Given the description of an element on the screen output the (x, y) to click on. 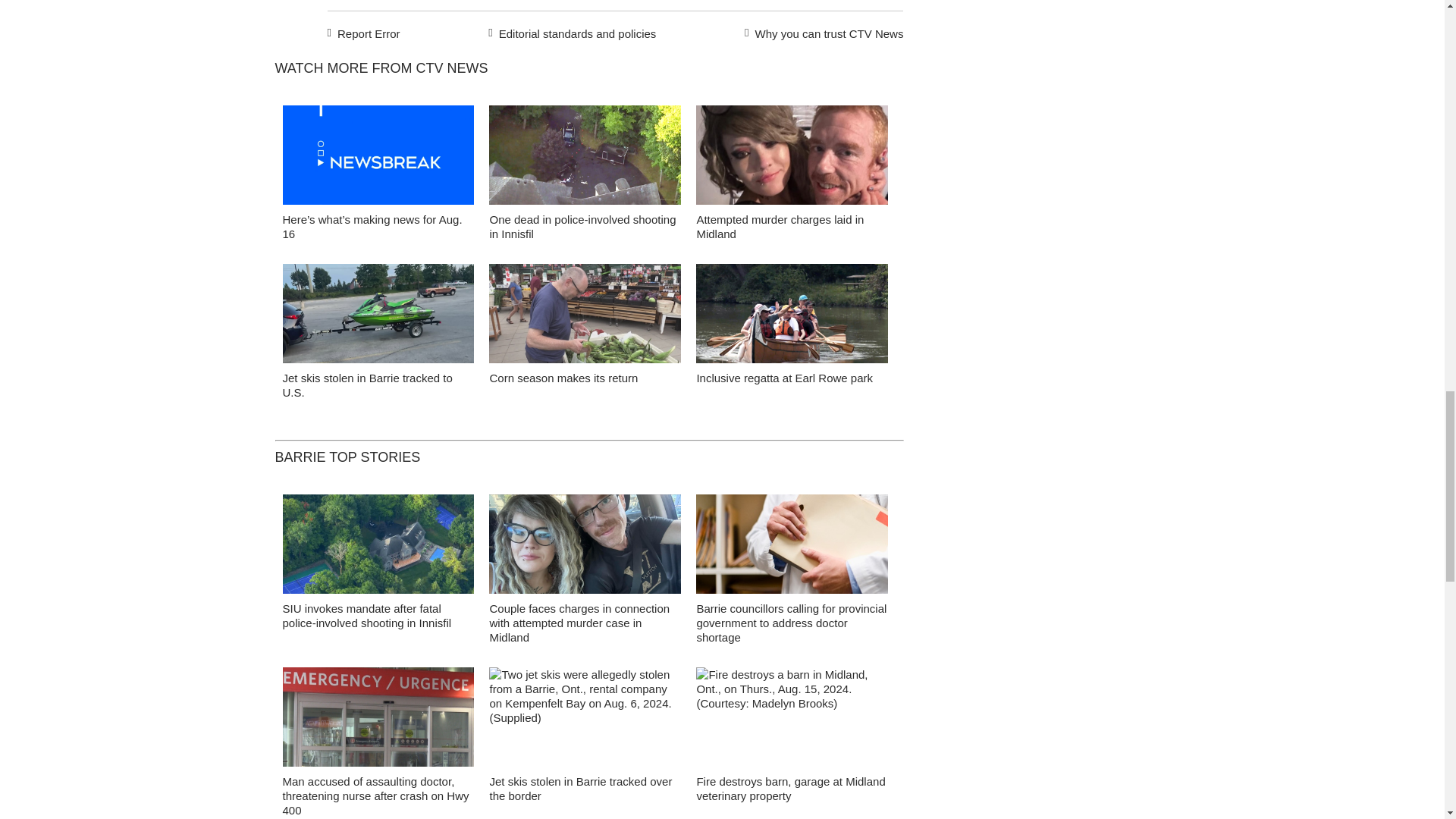
Innisfil shooting (378, 547)
Fatal police-involved shooting in Innisfil (585, 158)
Jet skis stolen in Barrie tracked to U.S. (366, 384)
false (378, 154)
Why you can trust CTV News (820, 31)
Barrie promo Newsbreak (378, 158)
Reddit (353, 0)
Doctor  (791, 547)
false (791, 313)
